Given the description of an element on the screen output the (x, y) to click on. 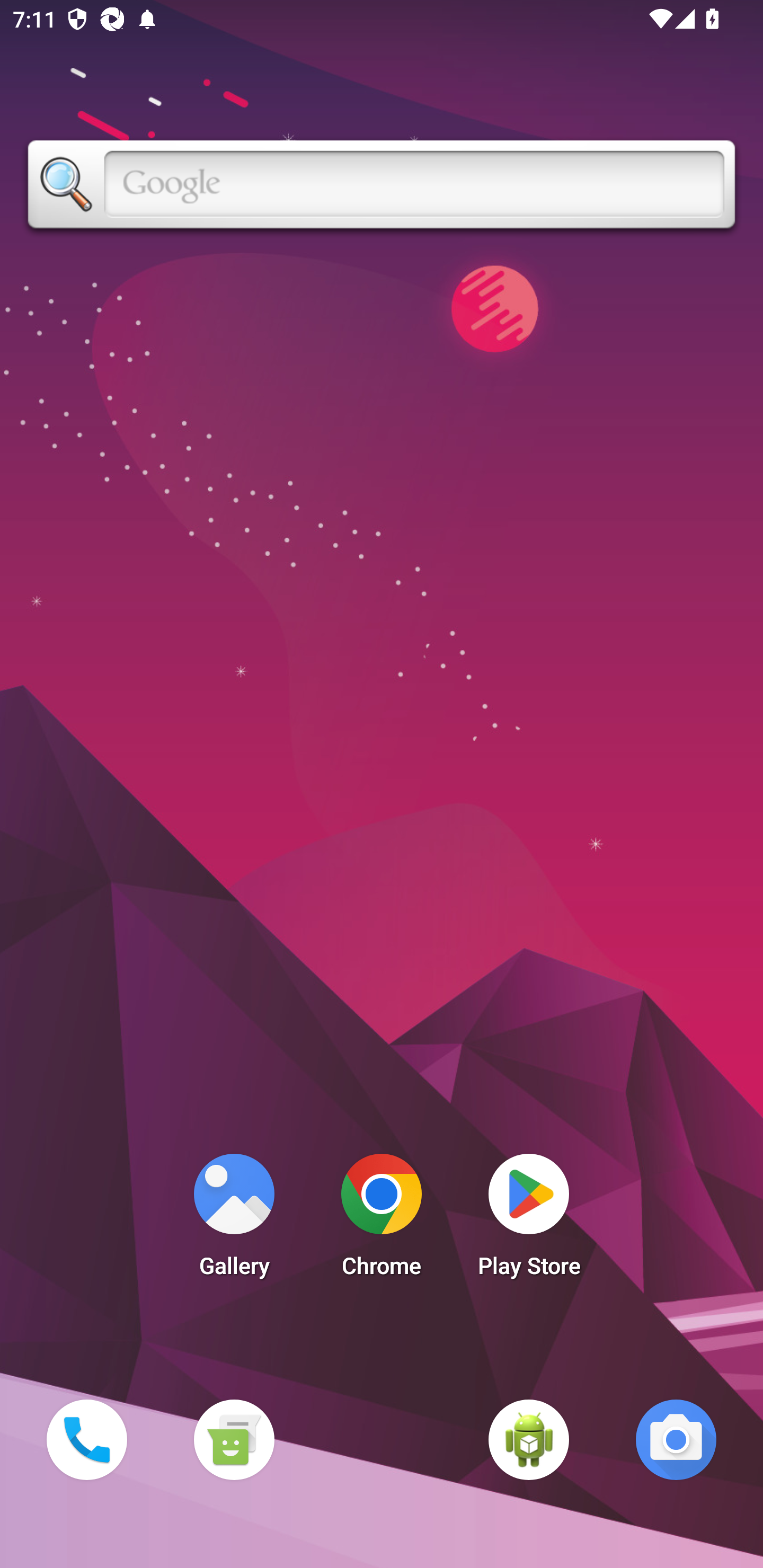
Gallery (233, 1220)
Chrome (381, 1220)
Play Store (528, 1220)
Phone (86, 1439)
Messaging (233, 1439)
WebView Browser Tester (528, 1439)
Camera (676, 1439)
